Given the description of an element on the screen output the (x, y) to click on. 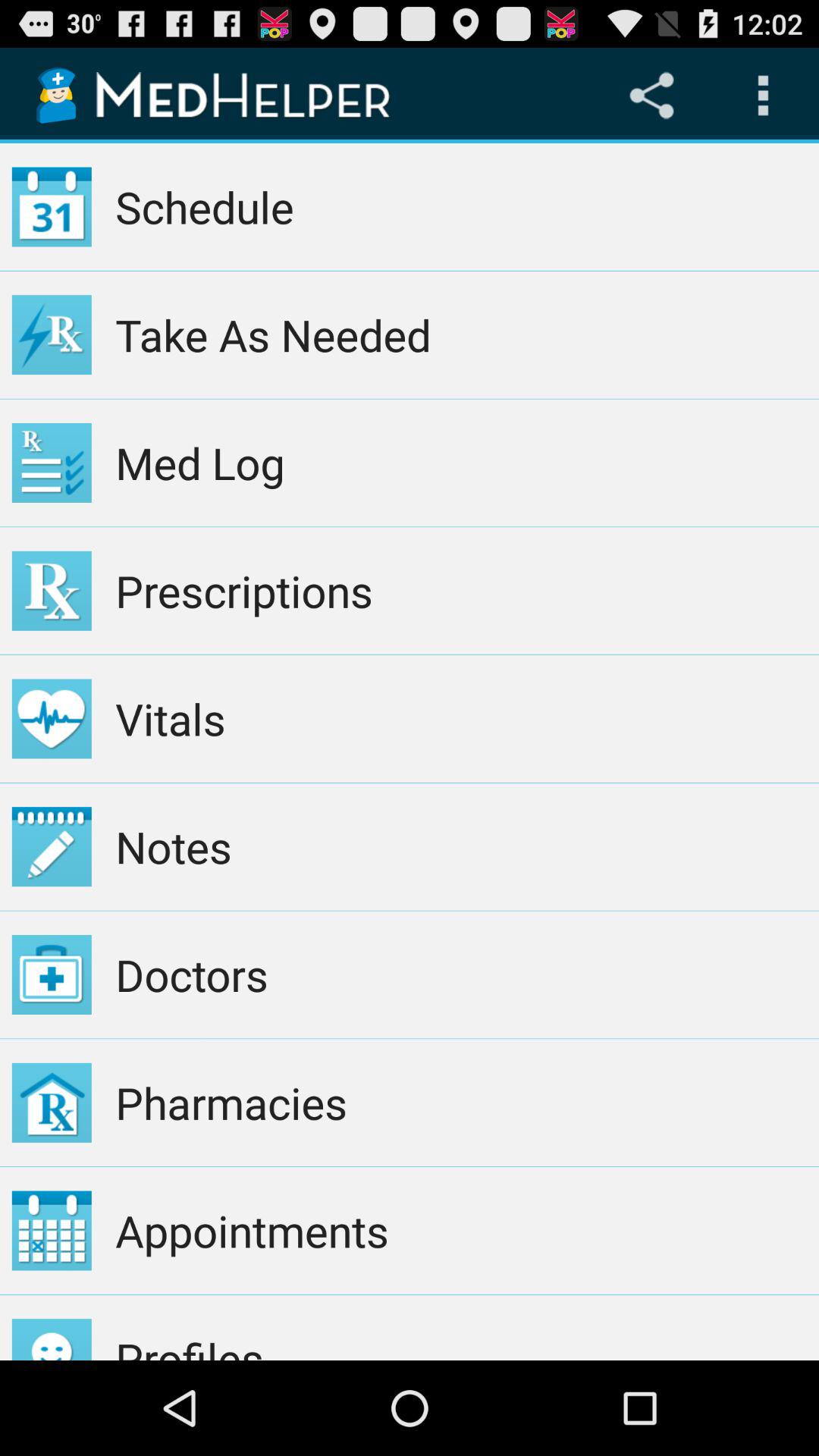
select the icon above the profiles item (461, 1230)
